Given the description of an element on the screen output the (x, y) to click on. 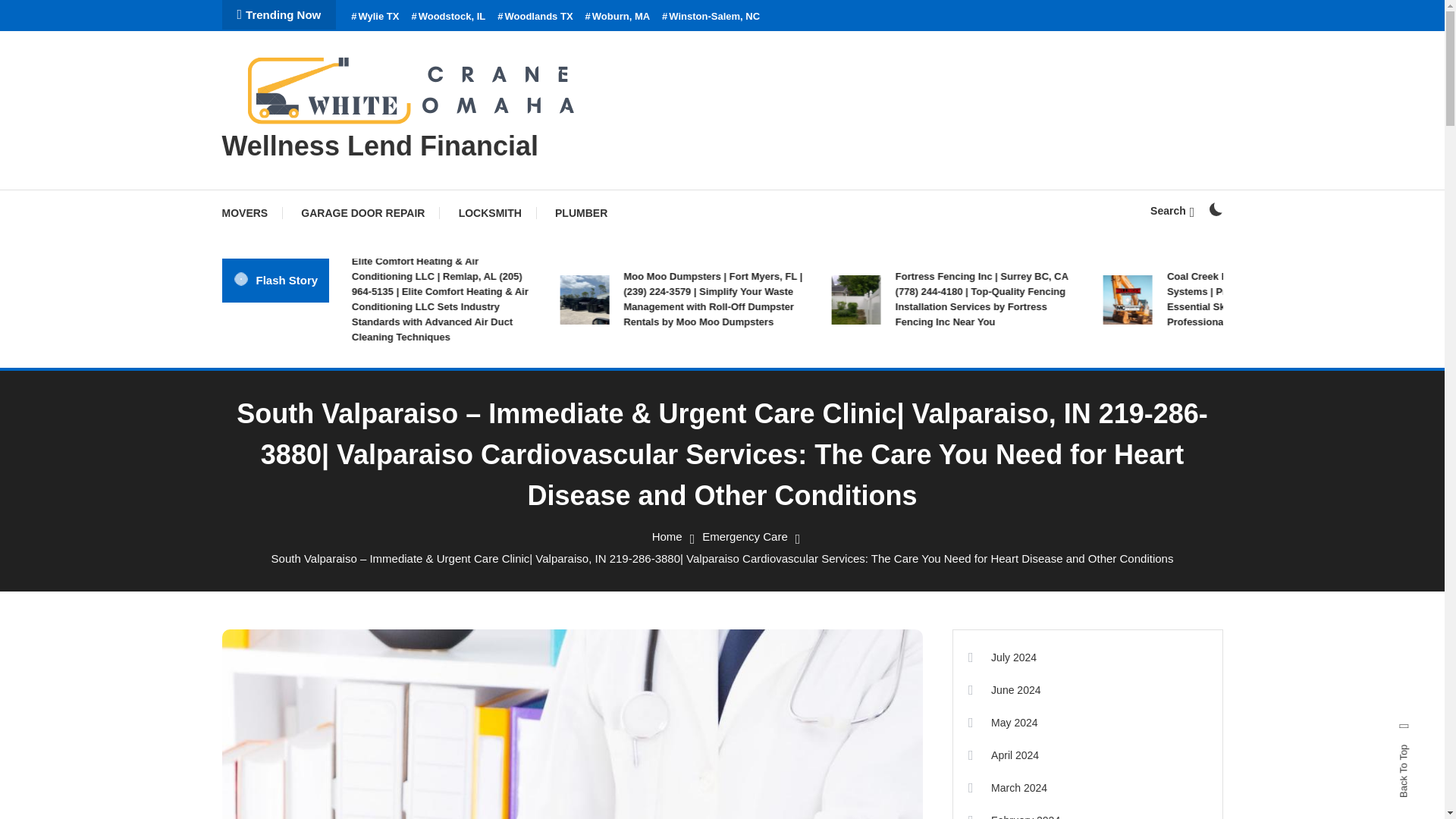
GARAGE DOOR REPAIR (362, 212)
Home (667, 535)
MOVERS (251, 212)
Emergency Care (744, 535)
LOCKSMITH (490, 212)
Search (768, 434)
Search (1171, 210)
Woburn, MA (617, 16)
Winston-Salem, NC (711, 16)
PLUMBER (581, 212)
Woodstock, IL (447, 16)
Wellness Lend Financial (379, 145)
Wylie TX (374, 16)
Woodlands TX (534, 16)
on (1215, 209)
